Given the description of an element on the screen output the (x, y) to click on. 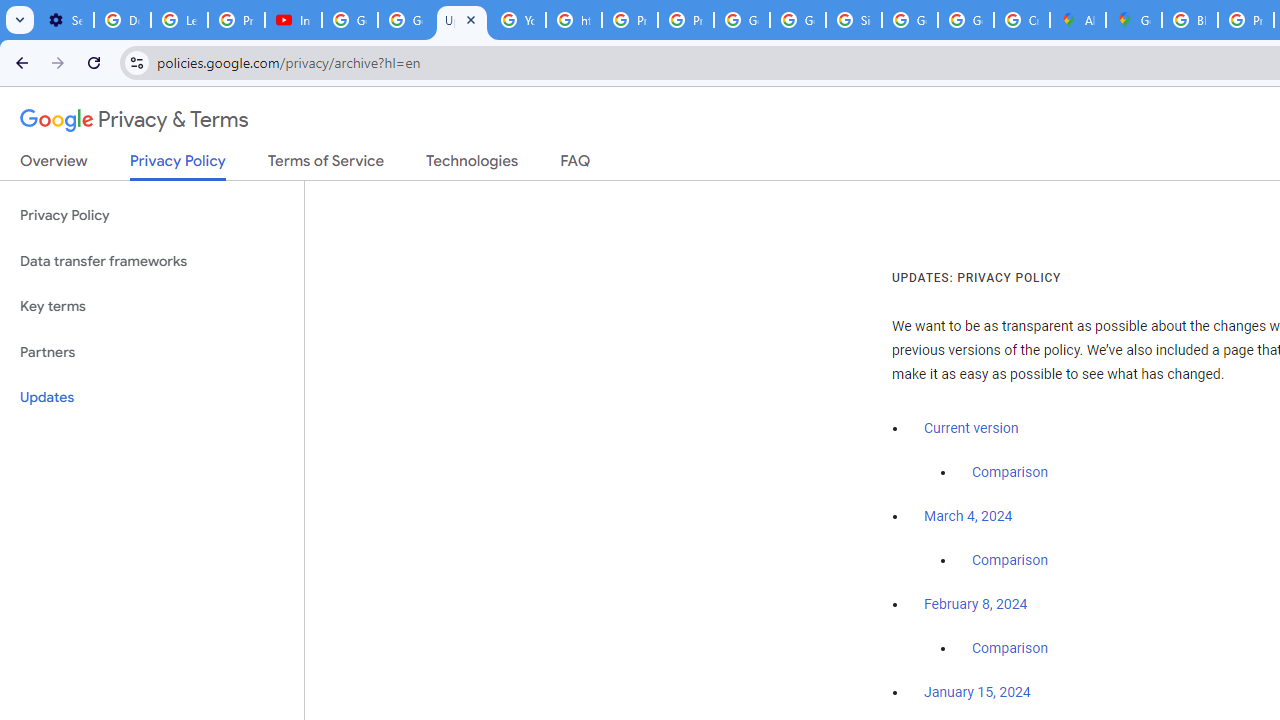
Google Maps (1133, 20)
March 4, 2024 (968, 517)
February 8, 2024 (975, 605)
Create your Google Account (1021, 20)
Data transfer frameworks (152, 261)
Comparison (1009, 649)
